Given the description of an element on the screen output the (x, y) to click on. 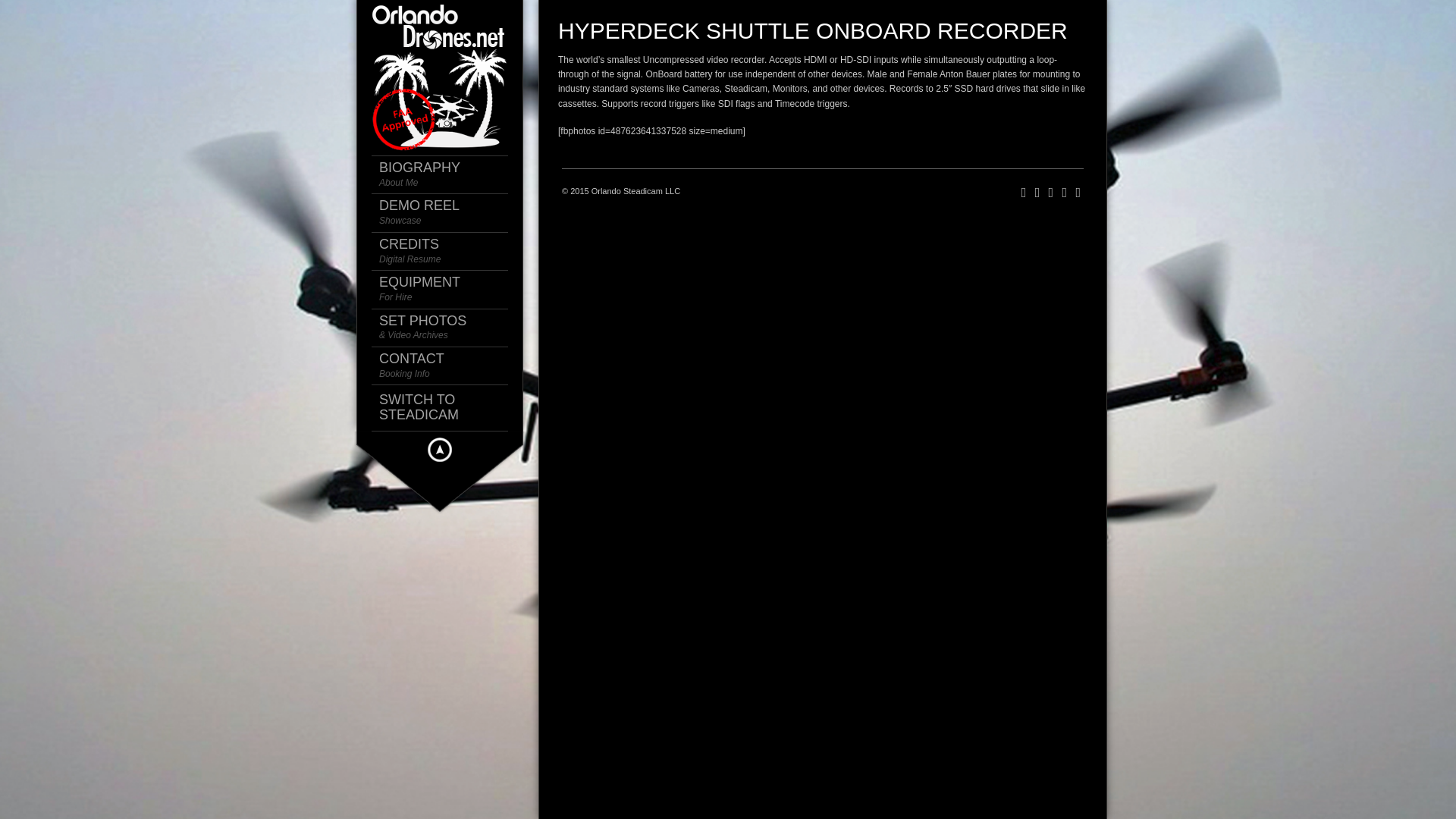
OrlandoDrones.net (439, 75)
SWITCH TO STEADICAM (446, 408)
Hide the navigation (446, 366)
